Given the description of an element on the screen output the (x, y) to click on. 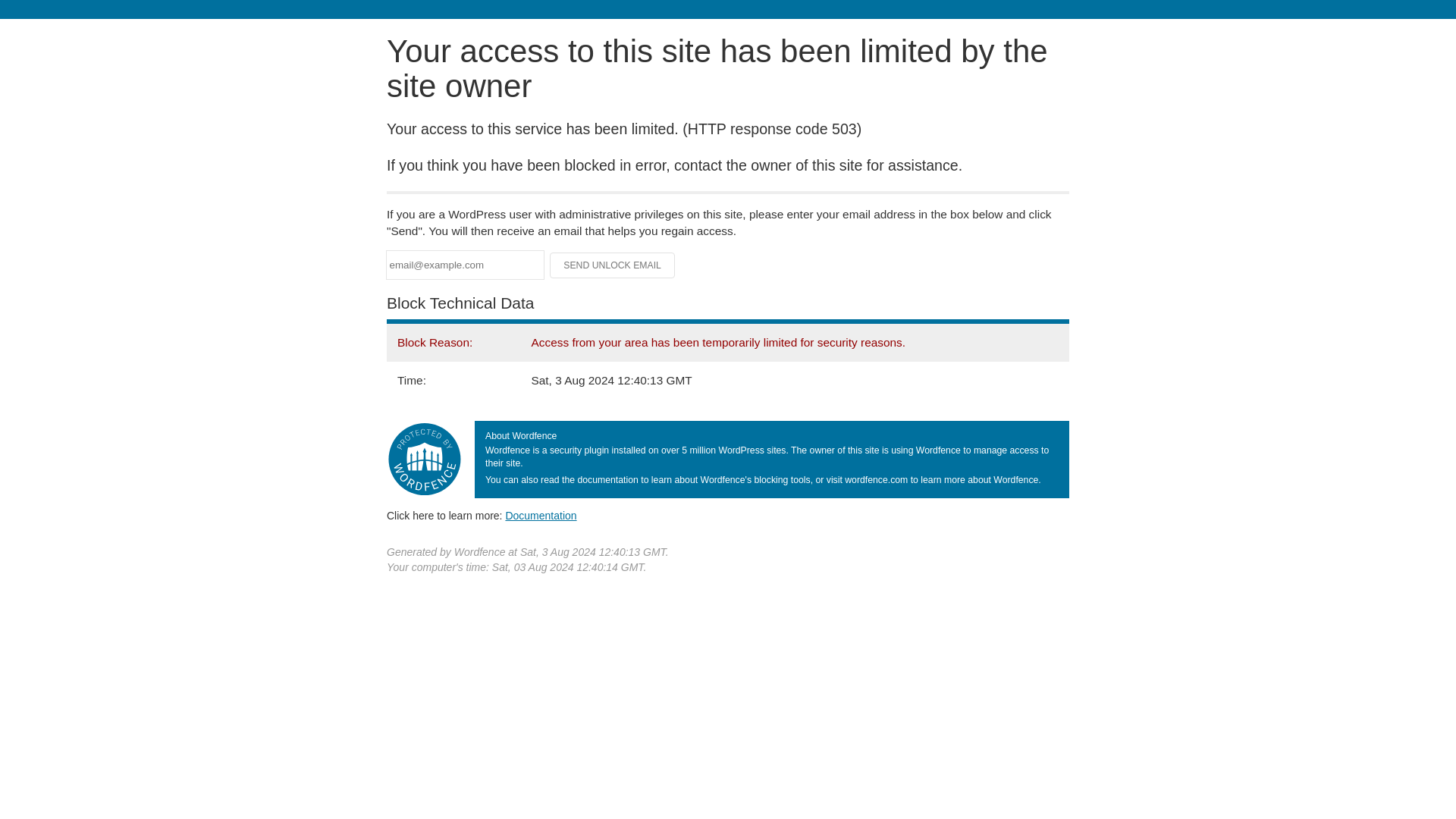
Send Unlock Email (612, 265)
Send Unlock Email (612, 265)
Documentation (540, 515)
